Given the description of an element on the screen output the (x, y) to click on. 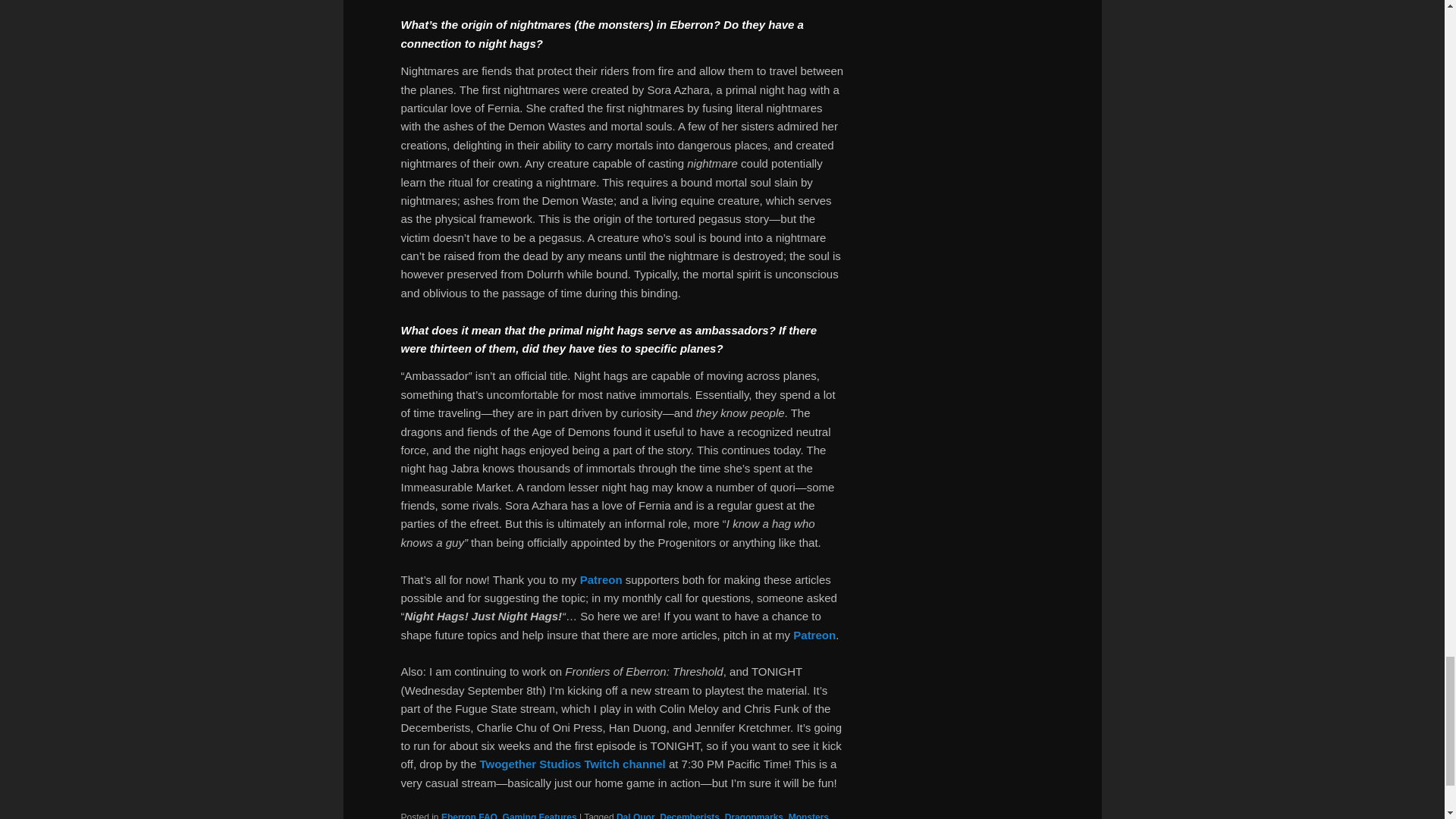
Patreon (814, 634)
Patreon (601, 579)
Twogether Studios Twitch channel (572, 763)
Dal Quor (635, 815)
Gaming Features (539, 815)
Eberron FAQ (469, 815)
Dragonmarks (754, 815)
Monsters (808, 815)
Decemberists (689, 815)
